Given the description of an element on the screen output the (x, y) to click on. 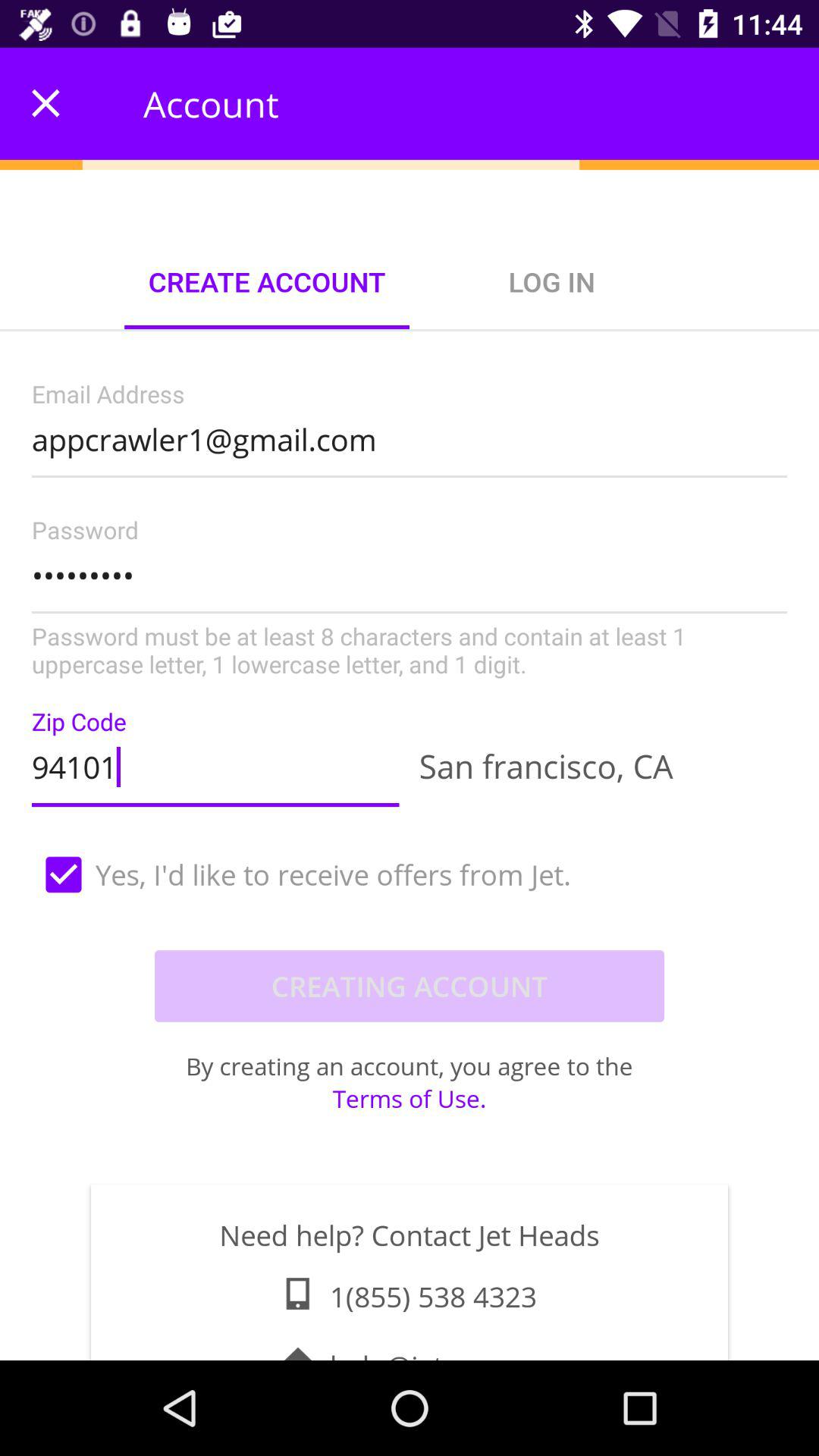
tap the item below appcrawler1@gmail.com (409, 599)
